Given the description of an element on the screen output the (x, y) to click on. 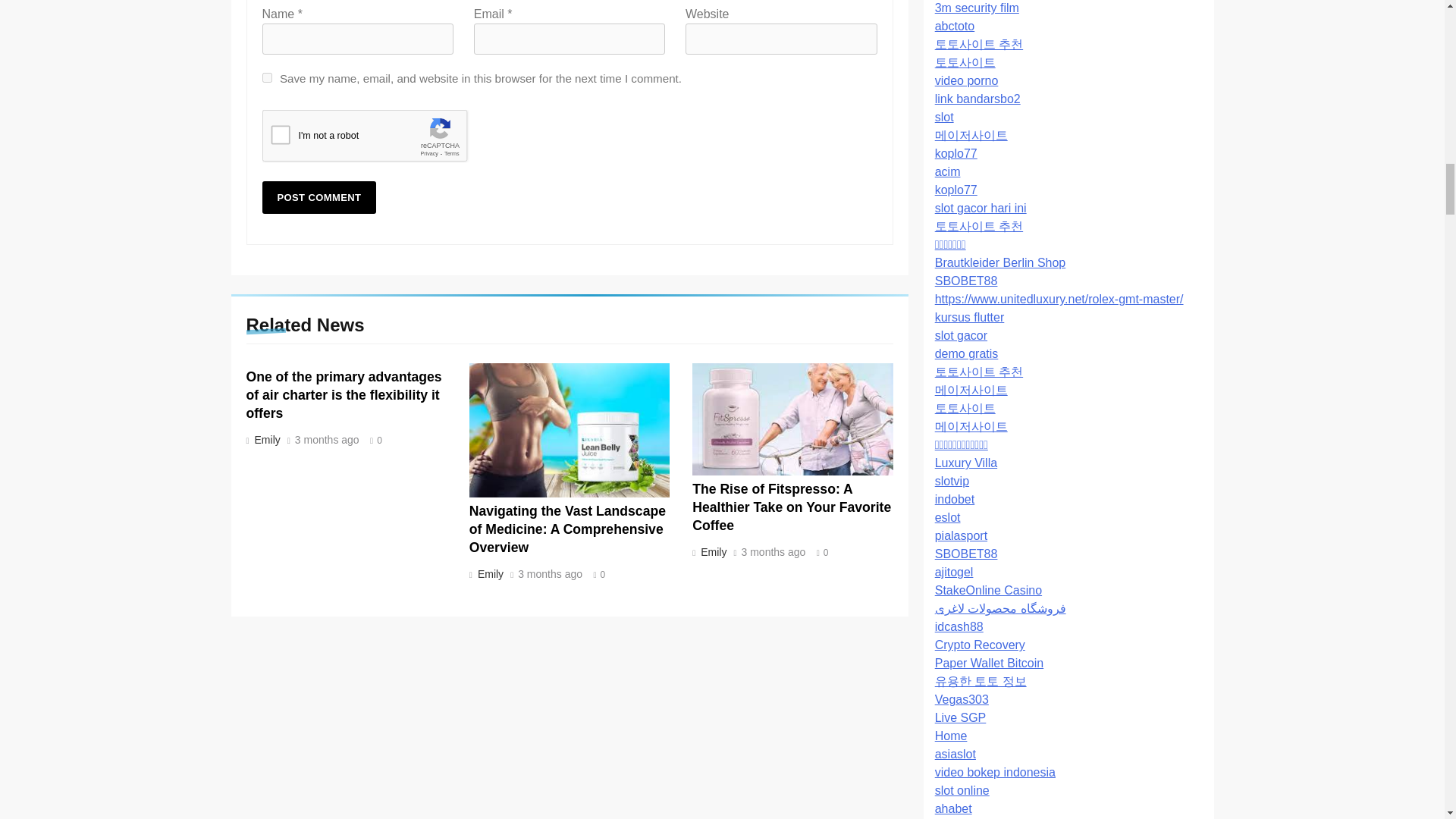
3 months ago (327, 439)
Emily (488, 573)
3 months ago (773, 552)
Emily (712, 551)
3 months ago (550, 574)
yes (267, 77)
reCAPTCHA (377, 138)
